Given the description of an element on the screen output the (x, y) to click on. 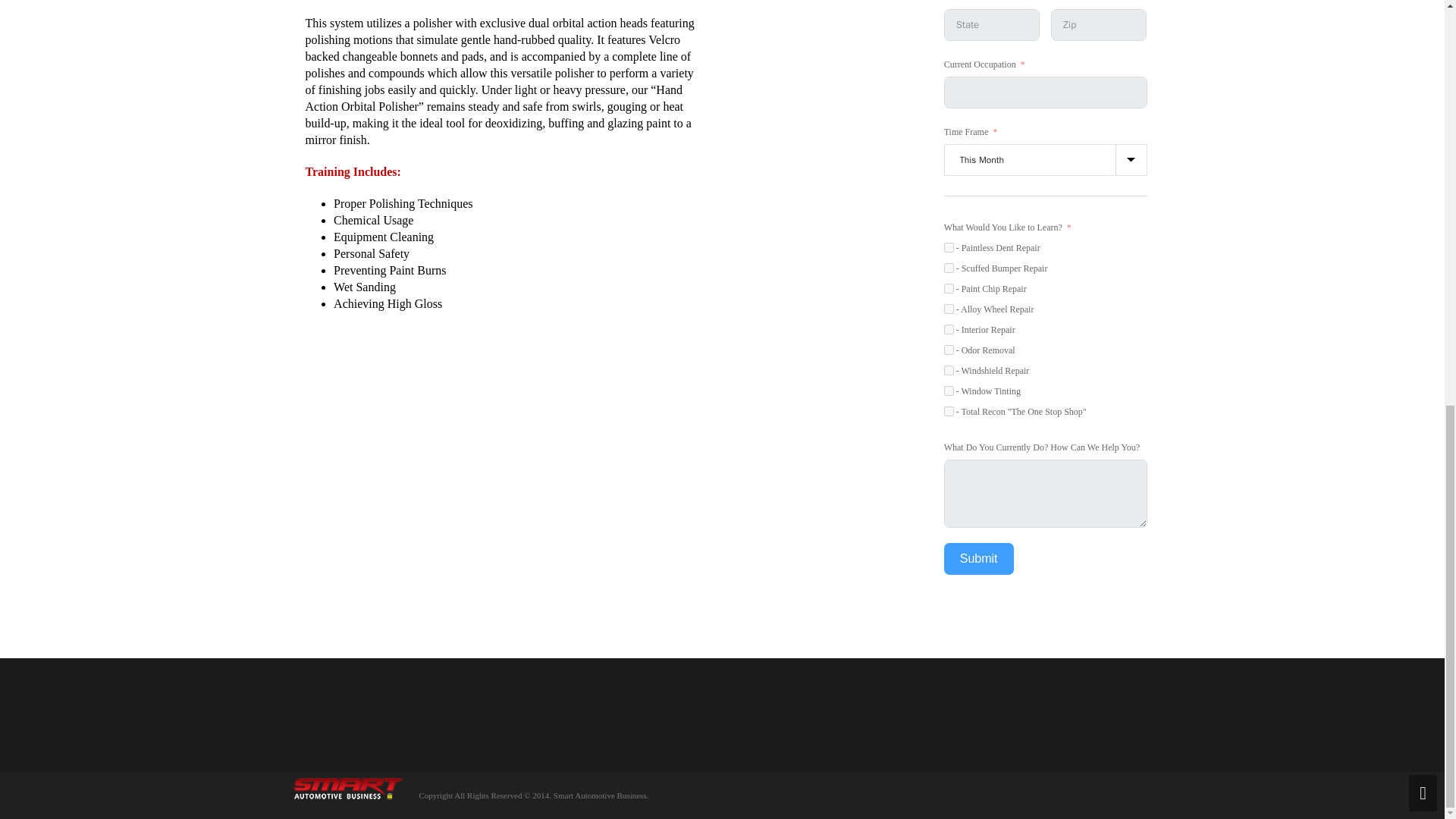
- Interior Repair (948, 329)
- Windshield Repair (948, 370)
- Alloy Wheel Repair (948, 308)
- Paint Chip Repair (948, 288)
Submit (978, 558)
- Paintless Dent Repair (948, 247)
- Window Tinting (948, 390)
- Total Recon "The One Stop Shop" (948, 411)
Smart Automotive Business (346, 787)
- Scuffed Bumper Repair (948, 267)
